Given the description of an element on the screen output the (x, y) to click on. 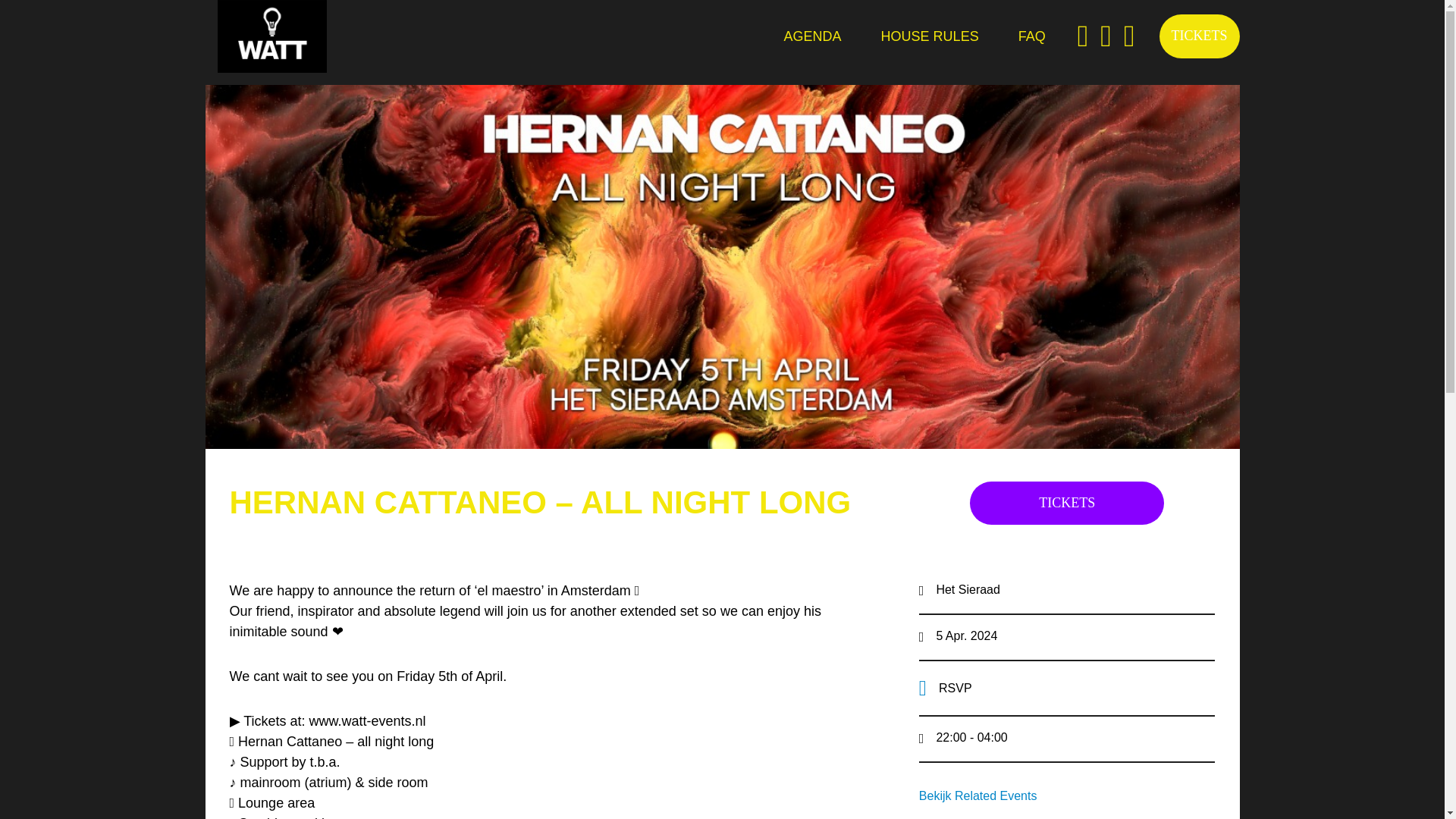
TICKETS (1198, 35)
RSVP (1066, 687)
AGENDA (811, 35)
Bekijk Related Events (1066, 796)
TICKETS (1066, 502)
home (271, 36)
HOUSE RULES (930, 35)
FAQ (1031, 35)
